Given the description of an element on the screen output the (x, y) to click on. 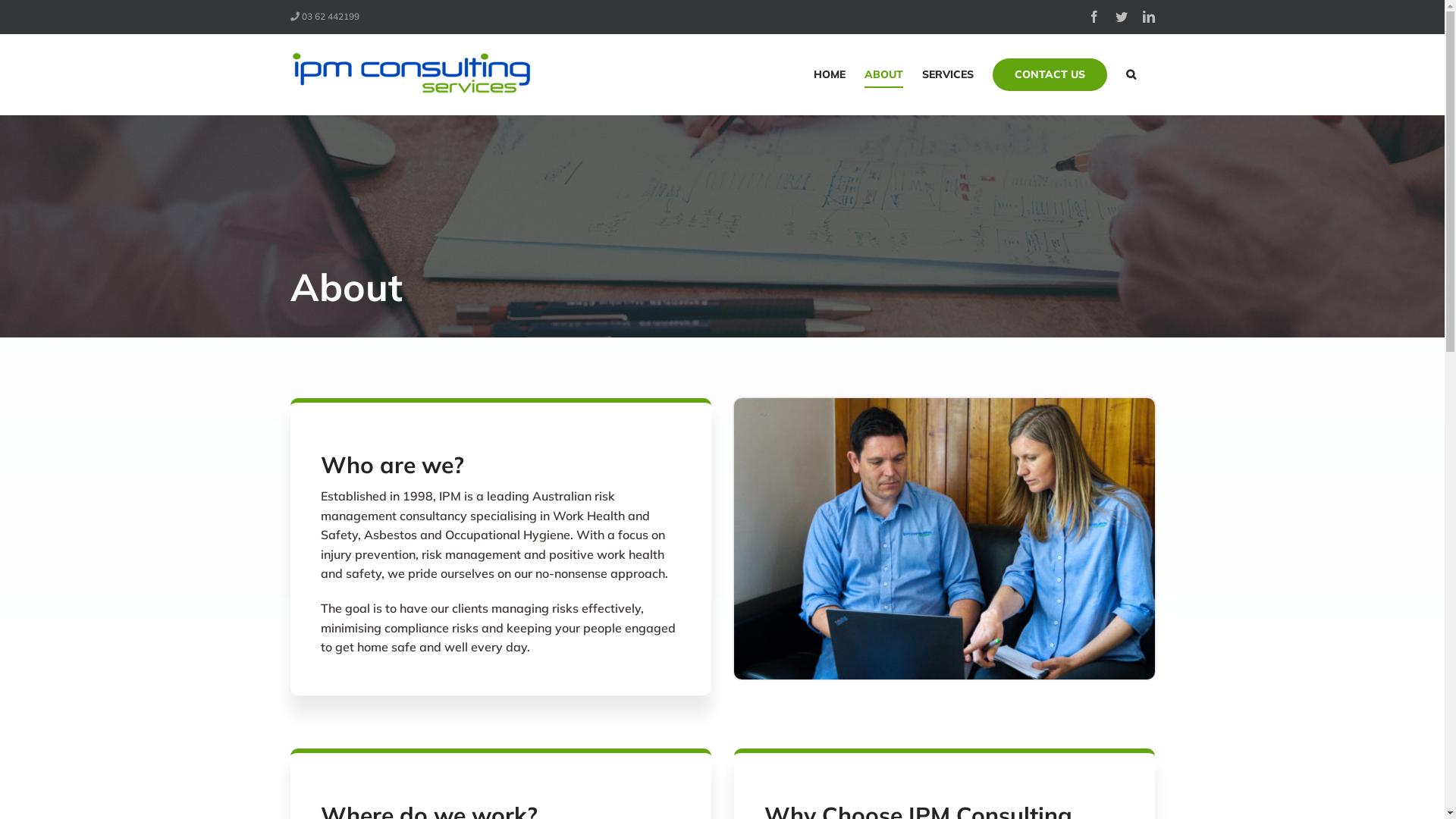
ABOUT Element type: text (883, 74)
Facebook Element type: text (1093, 16)
Twitter Element type: text (1120, 16)
ipm_consulting_04 Element type: hover (944, 538)
CONTACT US Element type: text (1048, 74)
SERVICES Element type: text (947, 74)
LinkedIn Element type: text (1148, 16)
HOME Element type: text (828, 74)
Search Element type: hover (1130, 74)
